Given the description of an element on the screen output the (x, y) to click on. 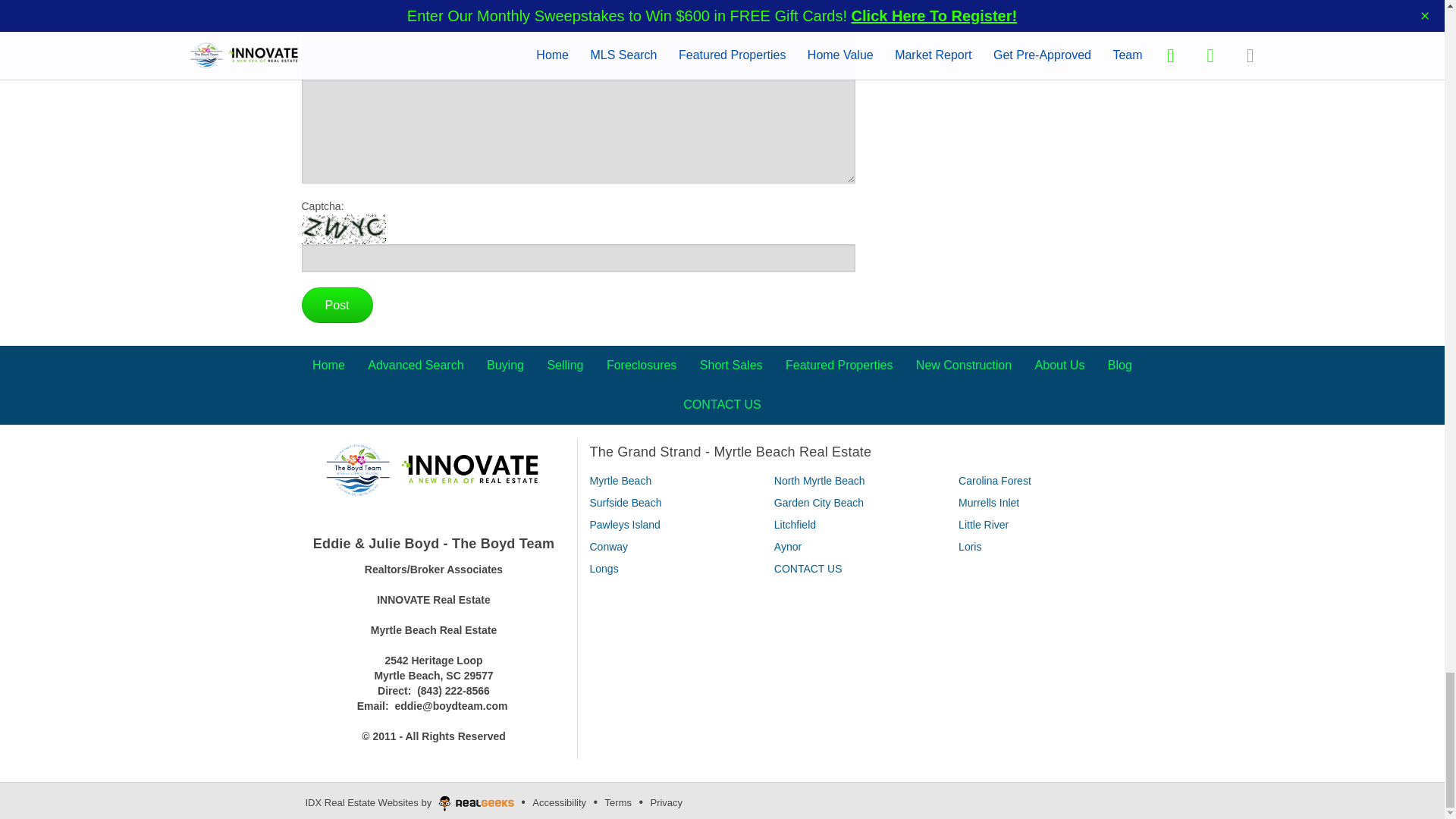
Post (336, 305)
Post (336, 305)
